Given the description of an element on the screen output the (x, y) to click on. 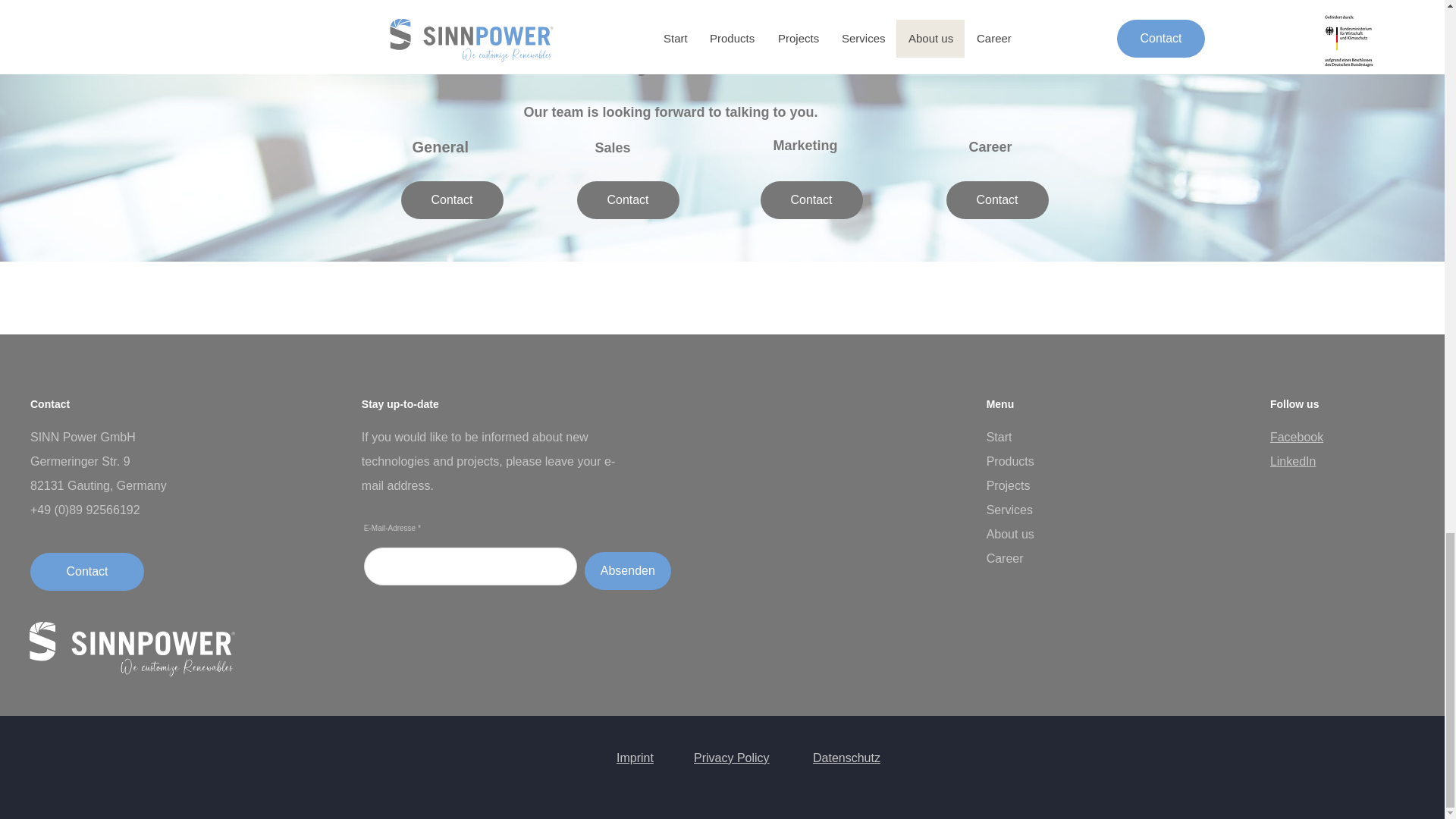
Datenschutz (846, 757)
LinkedIn (1292, 461)
Contact (810, 199)
Contact (87, 571)
About us (1010, 533)
Imprint (634, 757)
Contact (627, 199)
Contact (451, 199)
Projects (1008, 485)
Start (999, 436)
Absenden (628, 570)
Services (1009, 509)
Products (1010, 461)
Career (1005, 558)
Facebook (1296, 436)
